Given the description of an element on the screen output the (x, y) to click on. 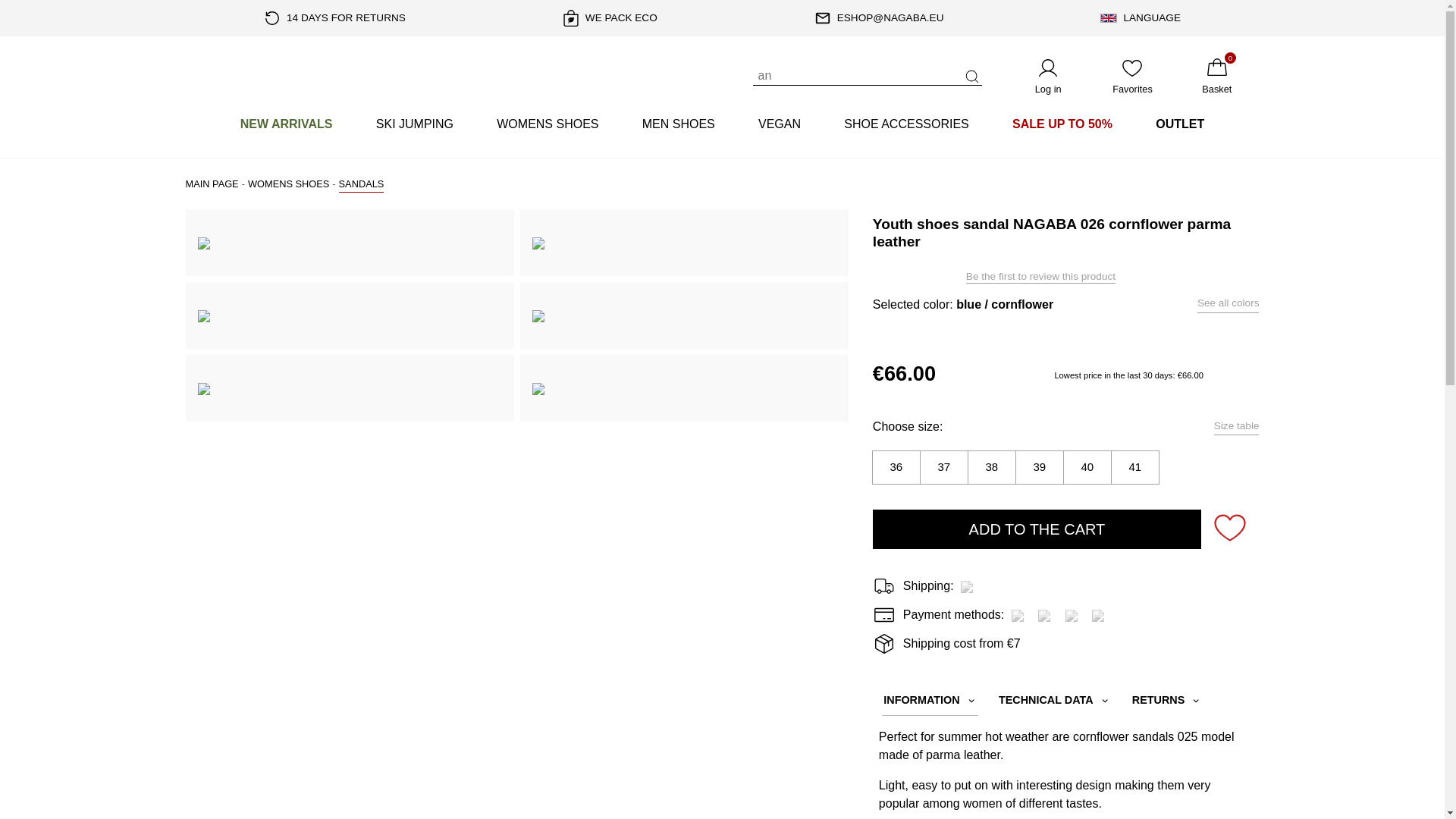
WOMENS SHOES (547, 124)
Log in (1047, 75)
Favorites (1132, 75)
SKI JUMPING (414, 124)
LANGUAGE (1140, 17)
NEW ARRIVALS (285, 124)
Basket (1216, 75)
